Given the description of an element on the screen output the (x, y) to click on. 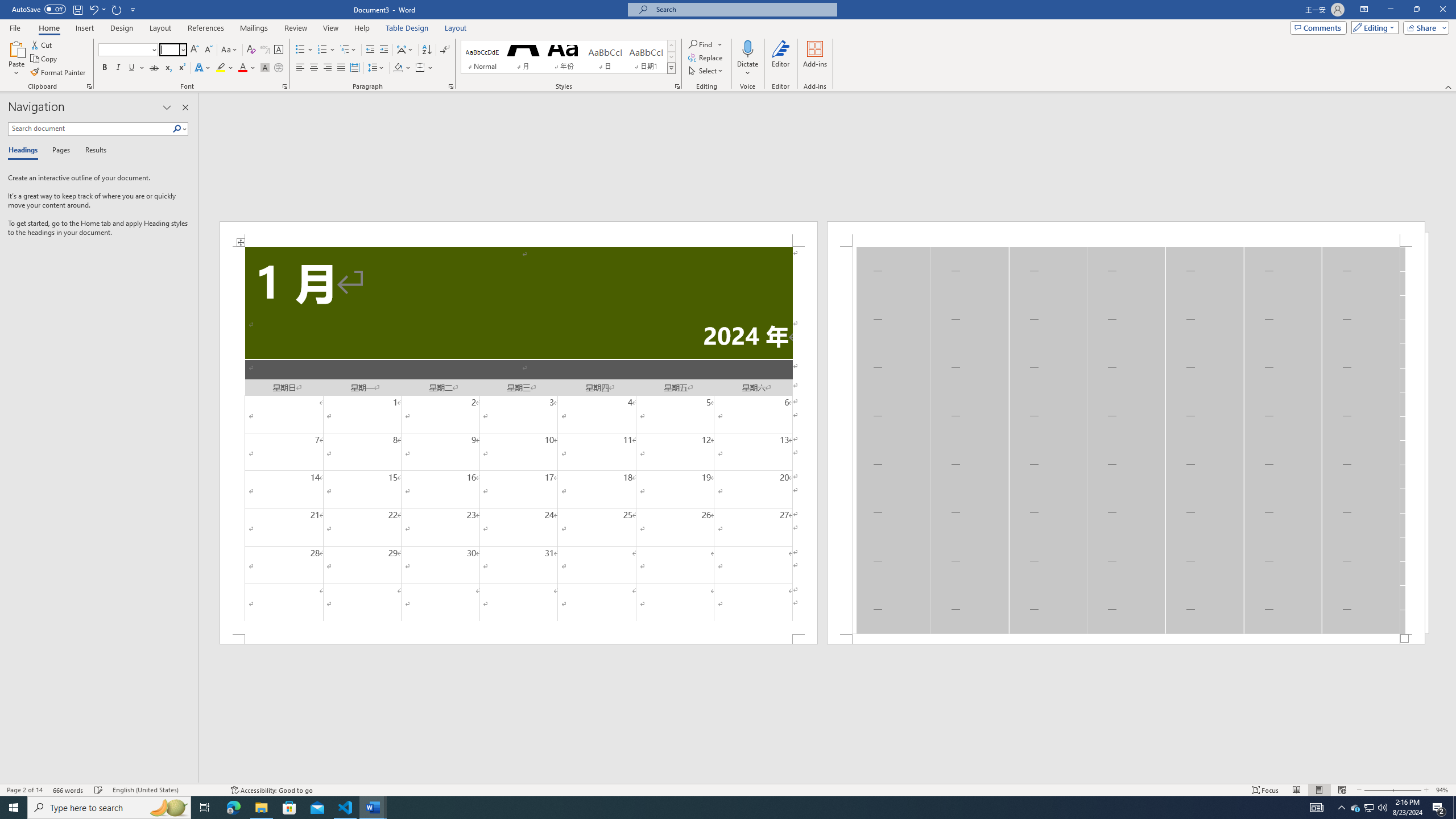
Page Number Page 2 of 14 (24, 790)
